Given the description of an element on the screen output the (x, y) to click on. 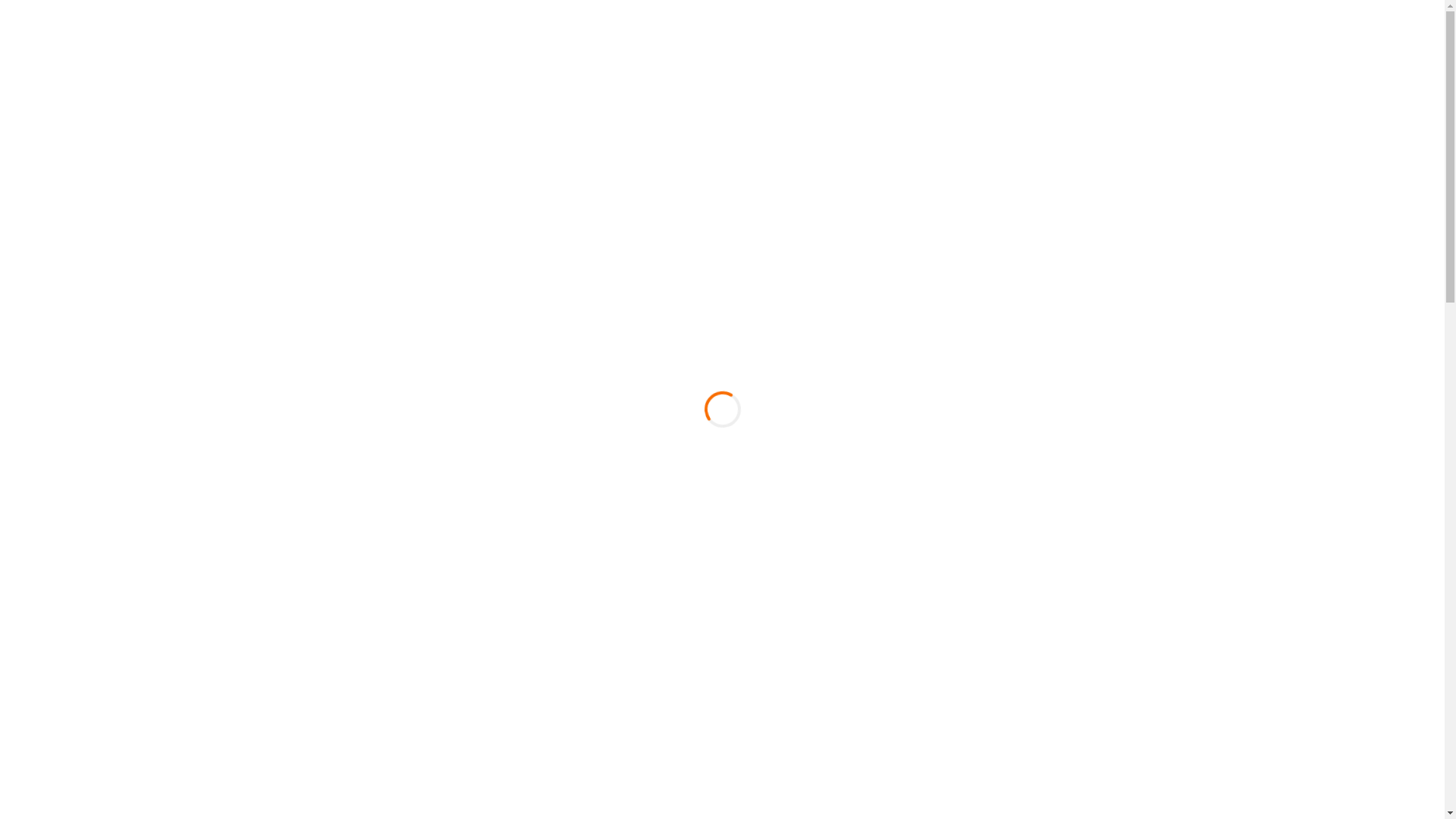
MANNIX LIBRARY Element type: text (102, 26)
